Given the description of an element on the screen output the (x, y) to click on. 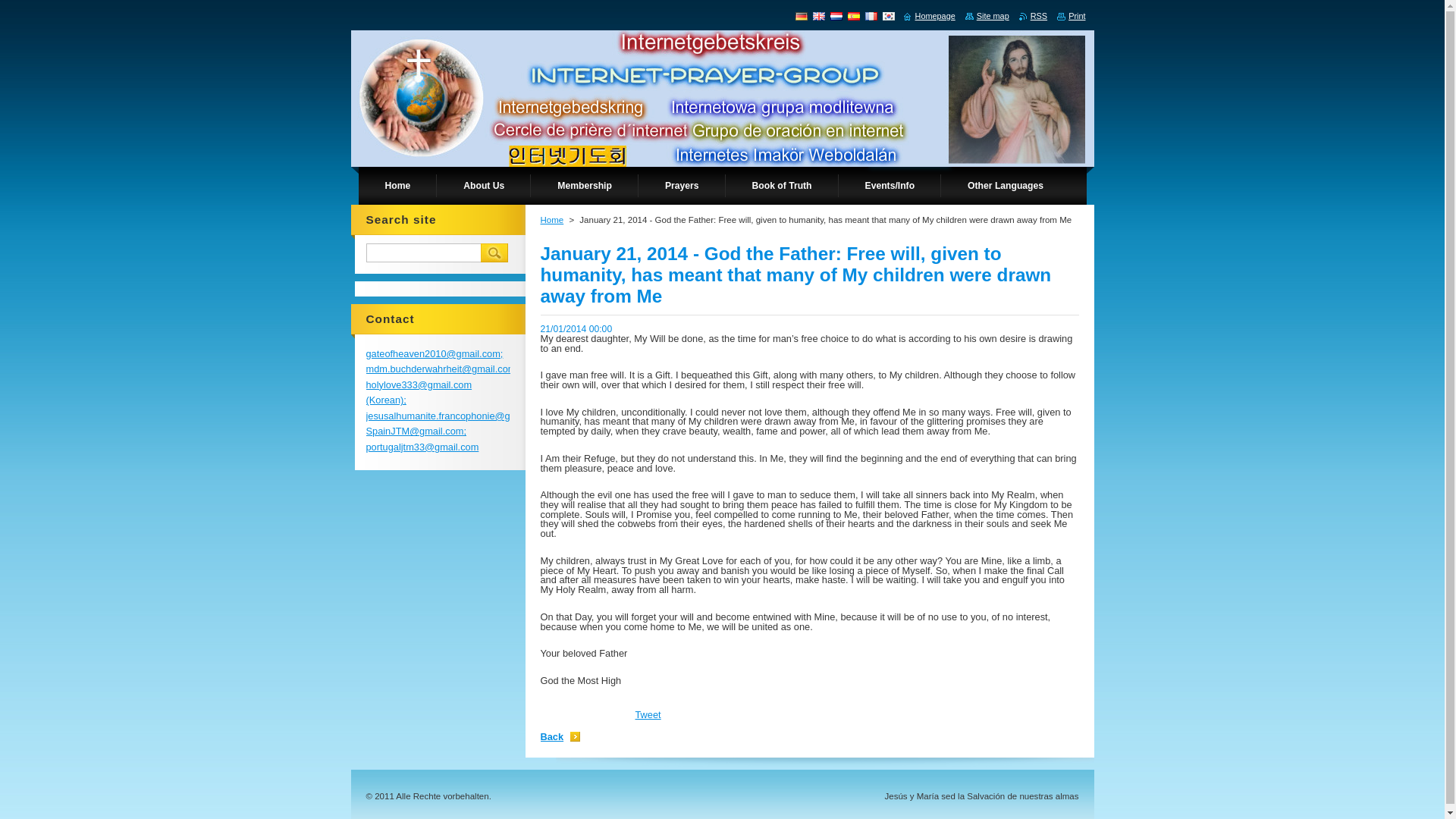
Print page (1070, 15)
About Us (483, 185)
Nederlands (836, 15)
Home (397, 185)
Go to Homepage. (511, 66)
Search (494, 252)
Go to site map. (987, 15)
Deutsch (801, 15)
English (818, 15)
Prayers (682, 185)
